Given the description of an element on the screen output the (x, y) to click on. 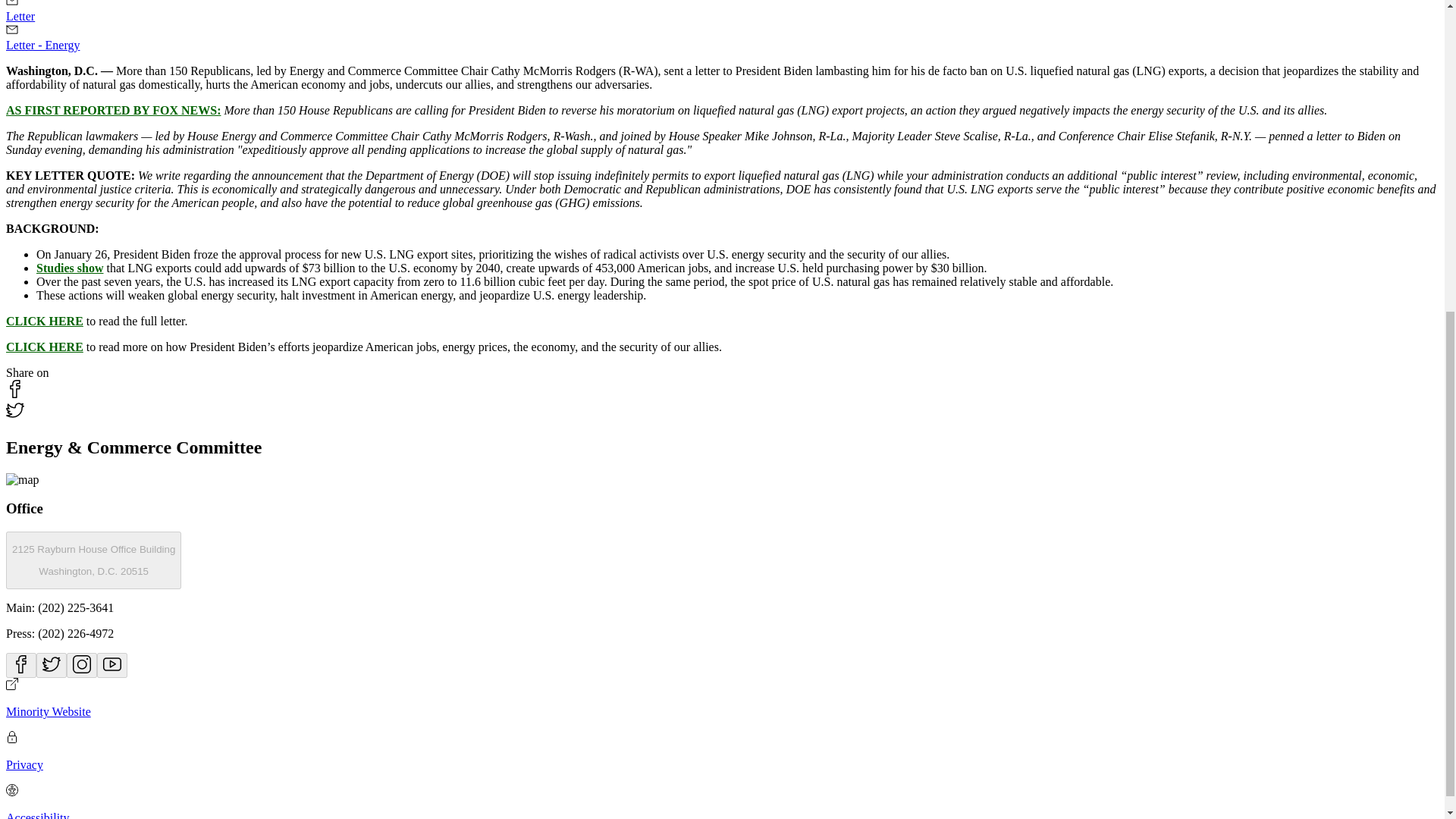
AS FIRST REPORTED BY FOX NEWS: (113, 110)
Studies show (92, 559)
CLICK HERE (69, 267)
CLICK HERE (43, 320)
